Given the description of an element on the screen output the (x, y) to click on. 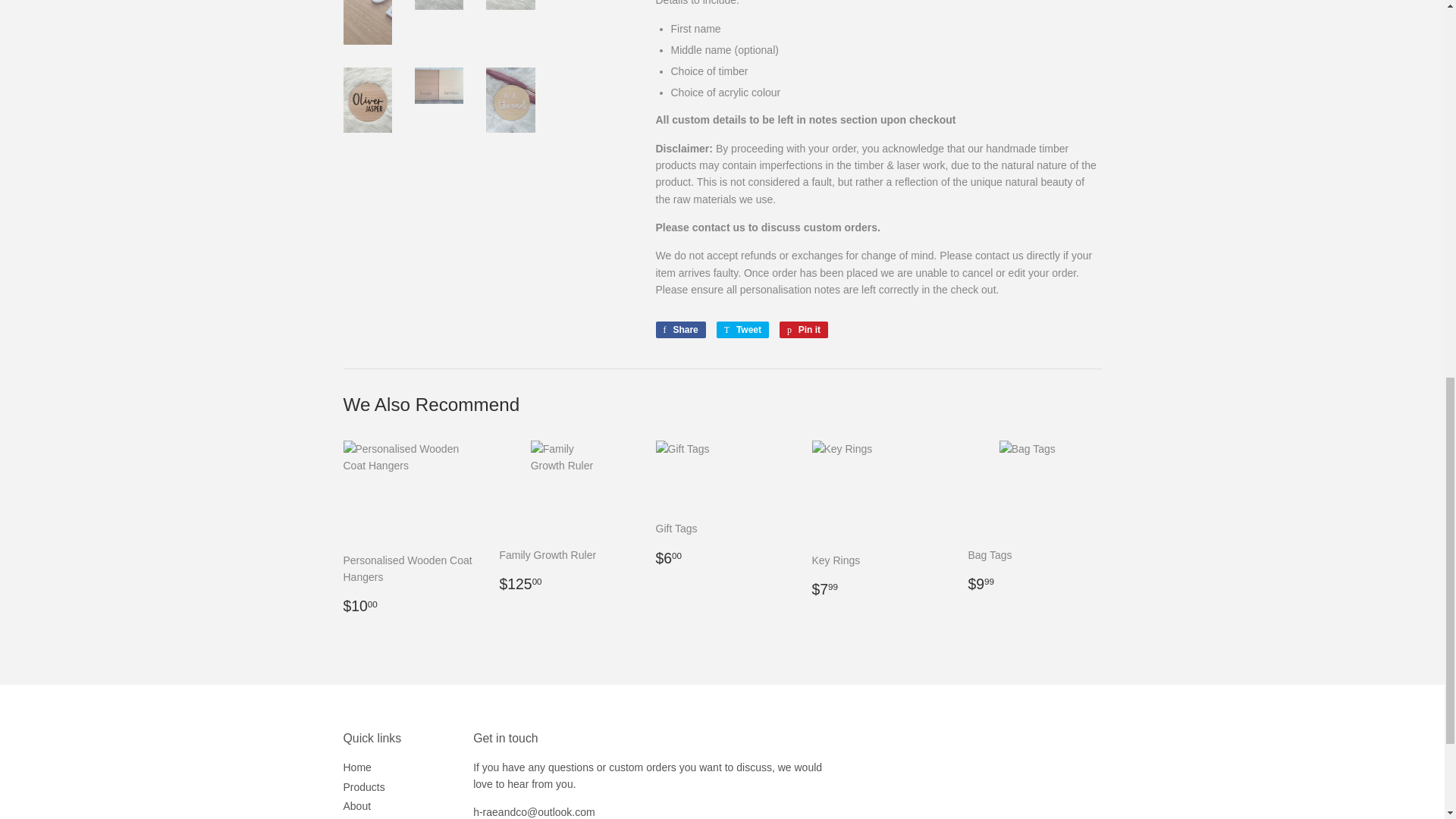
Pin on Pinterest (803, 329)
Tweet on Twitter (742, 329)
Contact us (534, 811)
Share on Facebook (679, 329)
